Given the description of an element on the screen output the (x, y) to click on. 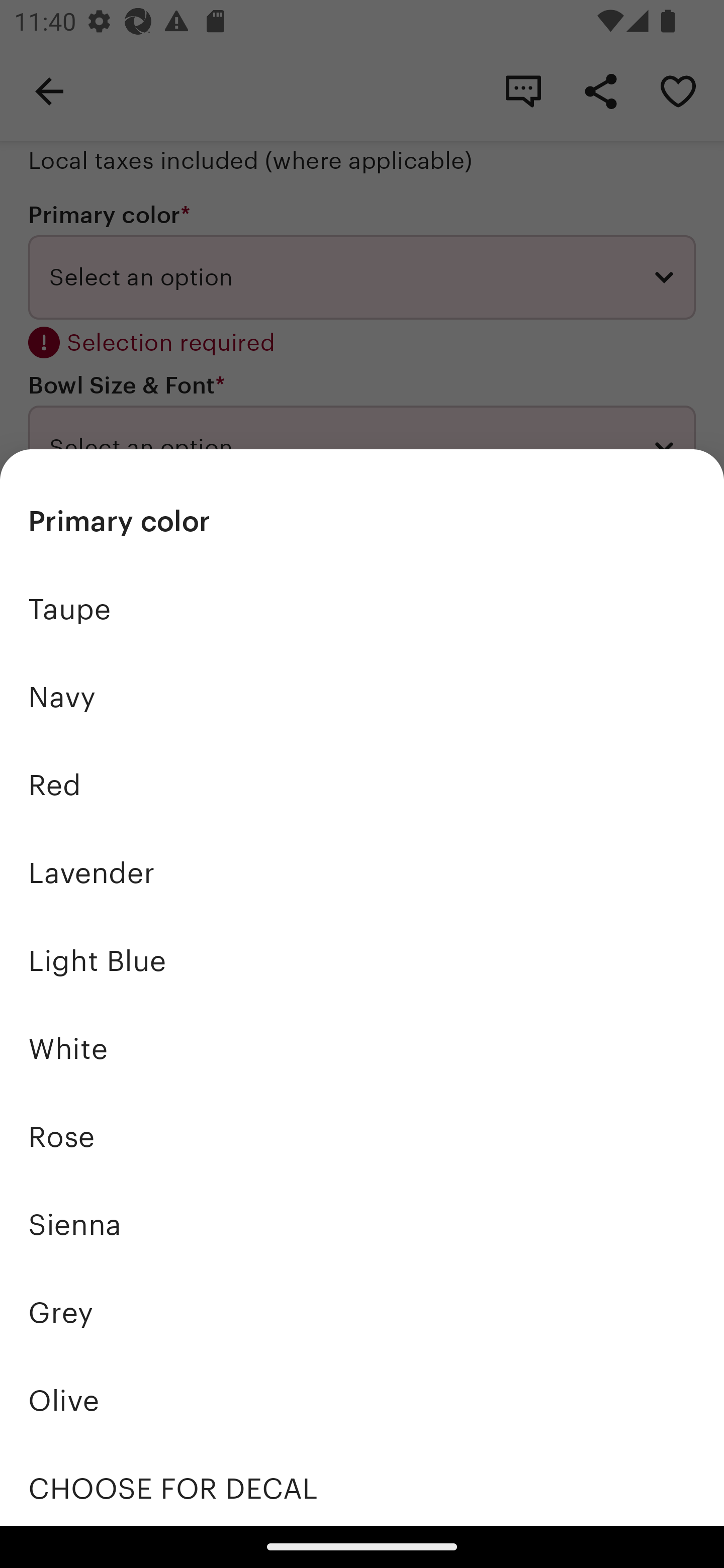
Taupe (362, 609)
Navy (362, 697)
Red (362, 785)
Lavender (362, 873)
Light Blue (362, 961)
White (362, 1048)
Rose (362, 1136)
Sienna (362, 1224)
Grey (362, 1312)
Olive (362, 1400)
CHOOSE FOR DECAL (362, 1484)
